Given the description of an element on the screen output the (x, y) to click on. 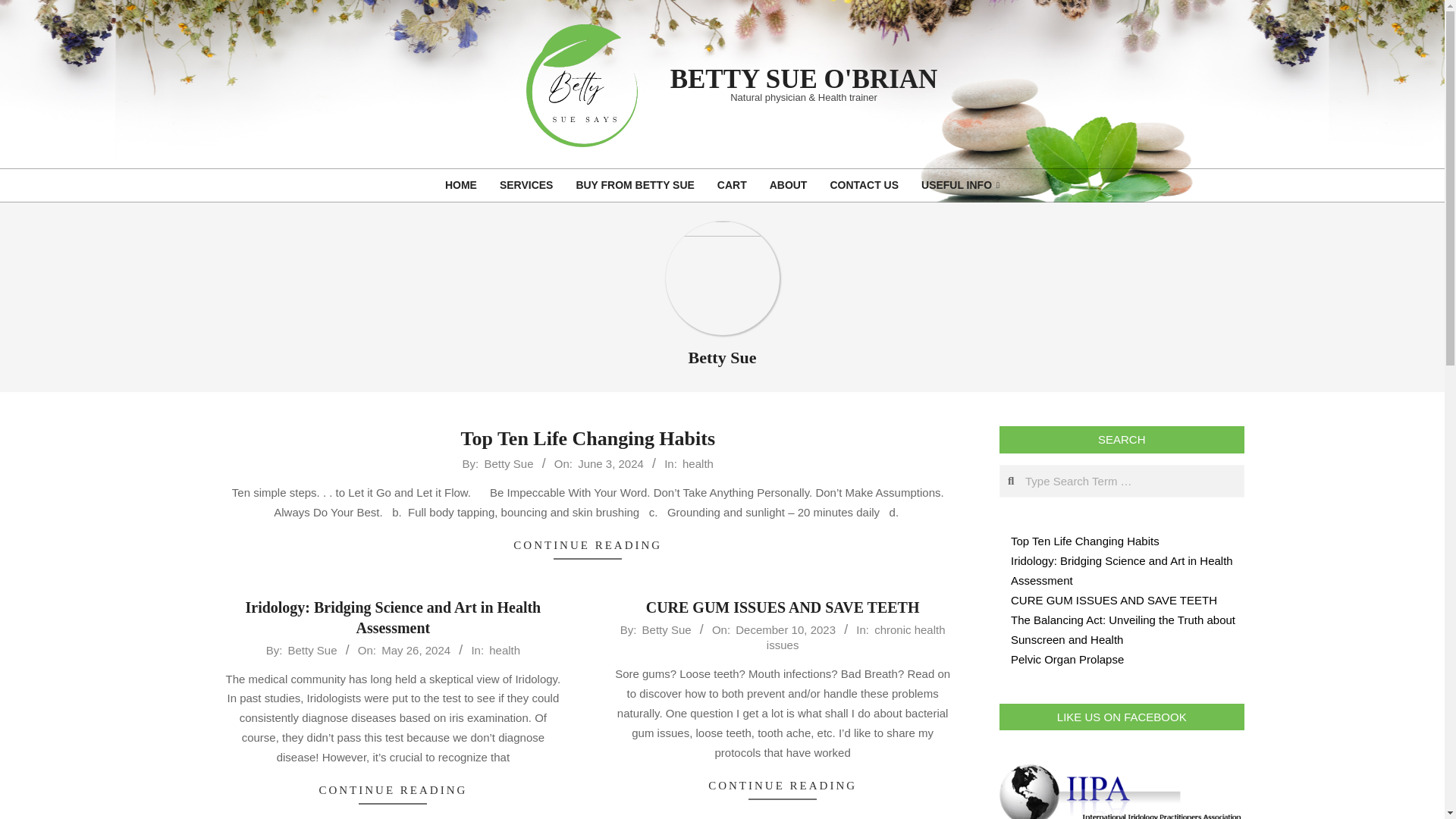
Top Ten Life Changing Habits (587, 438)
SERVICES (525, 184)
CURE GUM ISSUES AND SAVE TEETH (783, 606)
Iridology: Bridging Science and Art in Health Assessment (393, 617)
ABOUT (788, 184)
Sunday, May 26, 2024, 3:33 pm (415, 649)
CONTINUE READING (588, 545)
Betty Sue (312, 649)
Betty Sue (666, 629)
CONTINUE READING (782, 785)
CONTACT US (864, 184)
Monday, June 3, 2024, 7:26 am (610, 463)
Betty Sue (507, 463)
BUY FROM BETTY SUE (634, 184)
CONTINUE READING (393, 790)
